Given the description of an element on the screen output the (x, y) to click on. 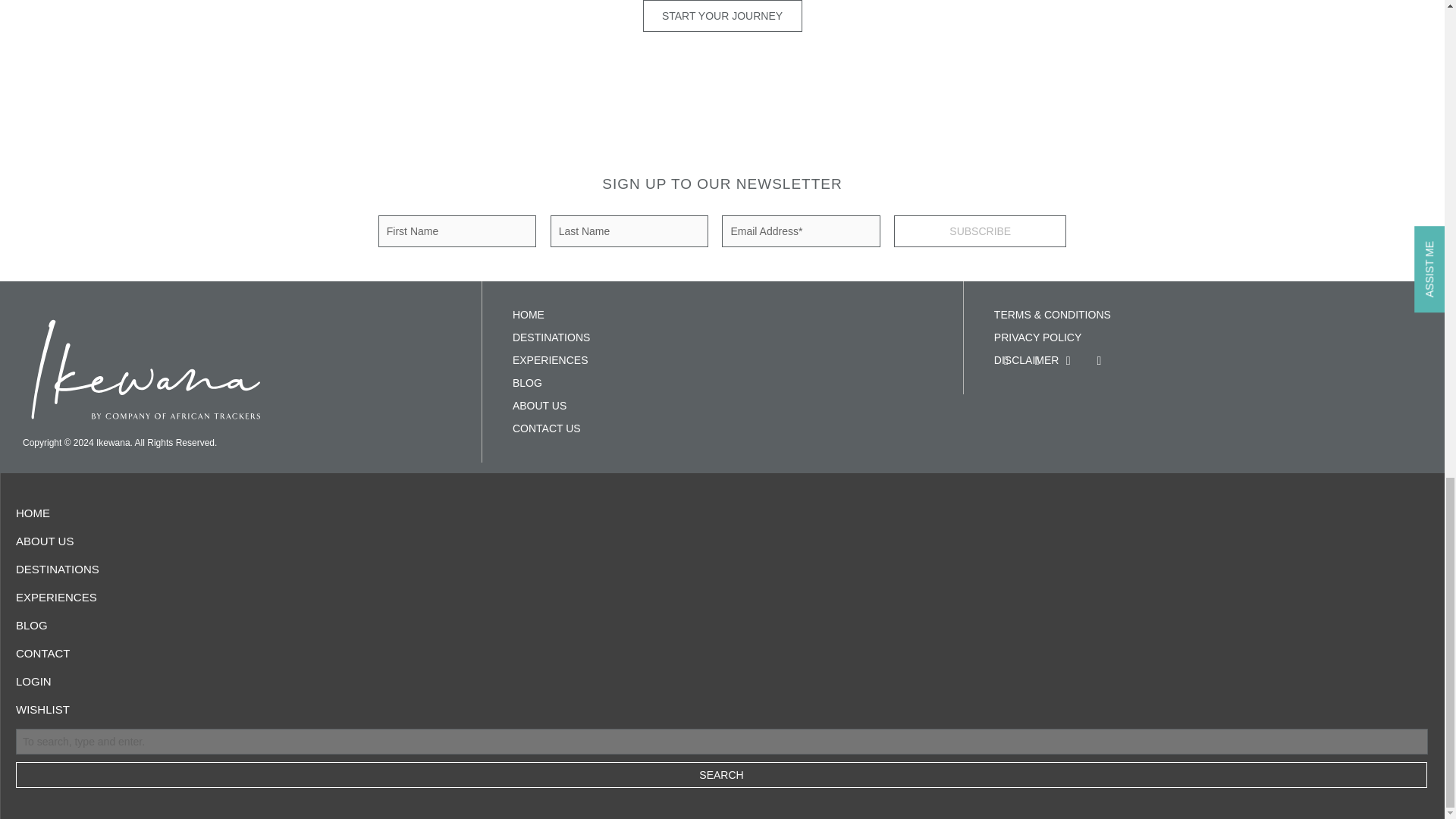
Subscribe (979, 231)
